Given the description of an element on the screen output the (x, y) to click on. 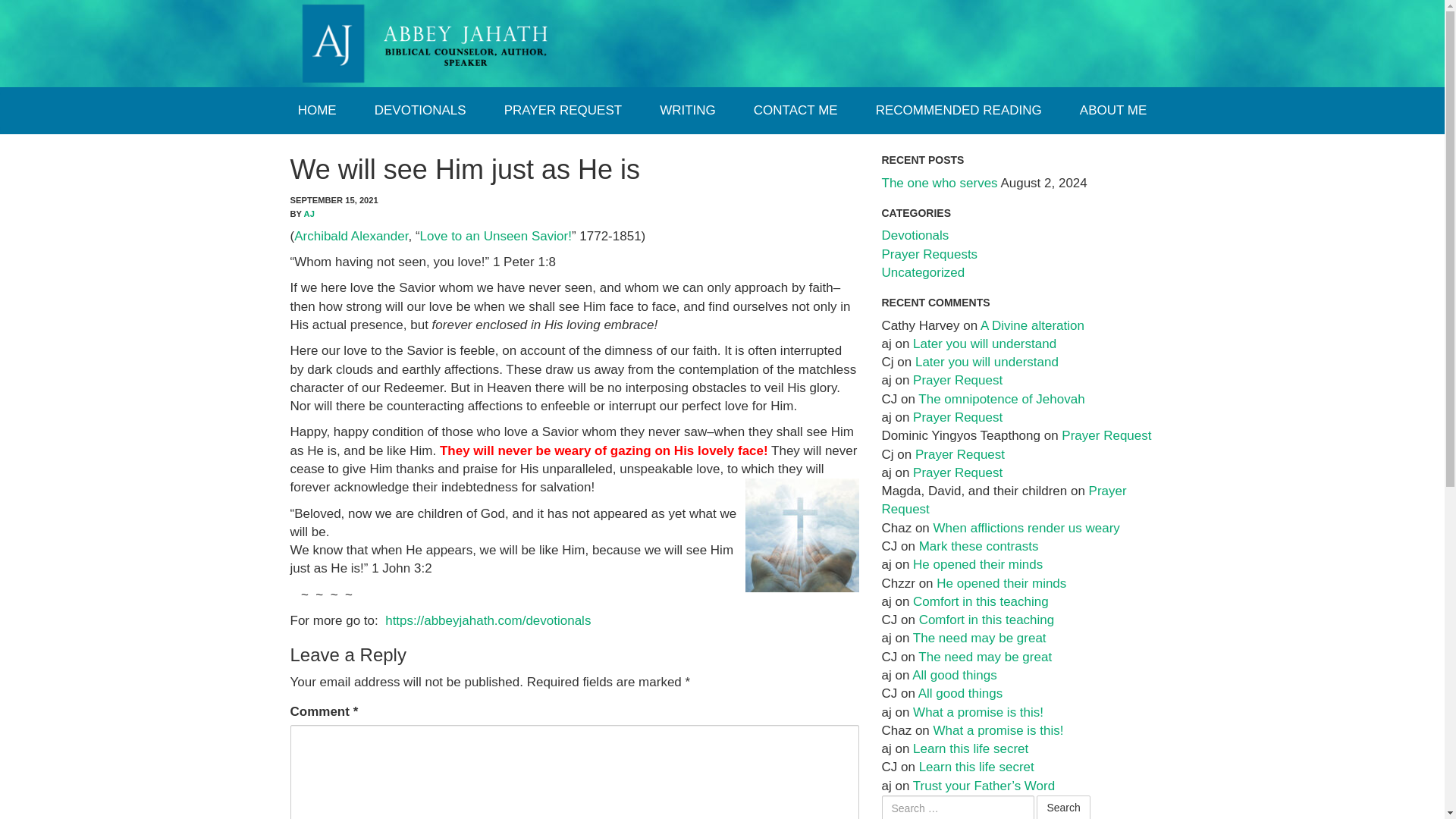
ABOUT ME (1112, 110)
DEVOTIONALS (419, 110)
All good things (954, 675)
HOME (316, 110)
PRAYER REQUEST (563, 110)
RECOMMENDED READING (958, 110)
The need may be great (984, 657)
Search (1062, 807)
Mark these contrasts (978, 545)
Later you will understand (986, 361)
All good things (960, 693)
Uncategorized (921, 272)
A Divine alteration (1031, 325)
WRITING (686, 110)
The omnipotence of Jehovah (1001, 399)
